Given the description of an element on the screen output the (x, y) to click on. 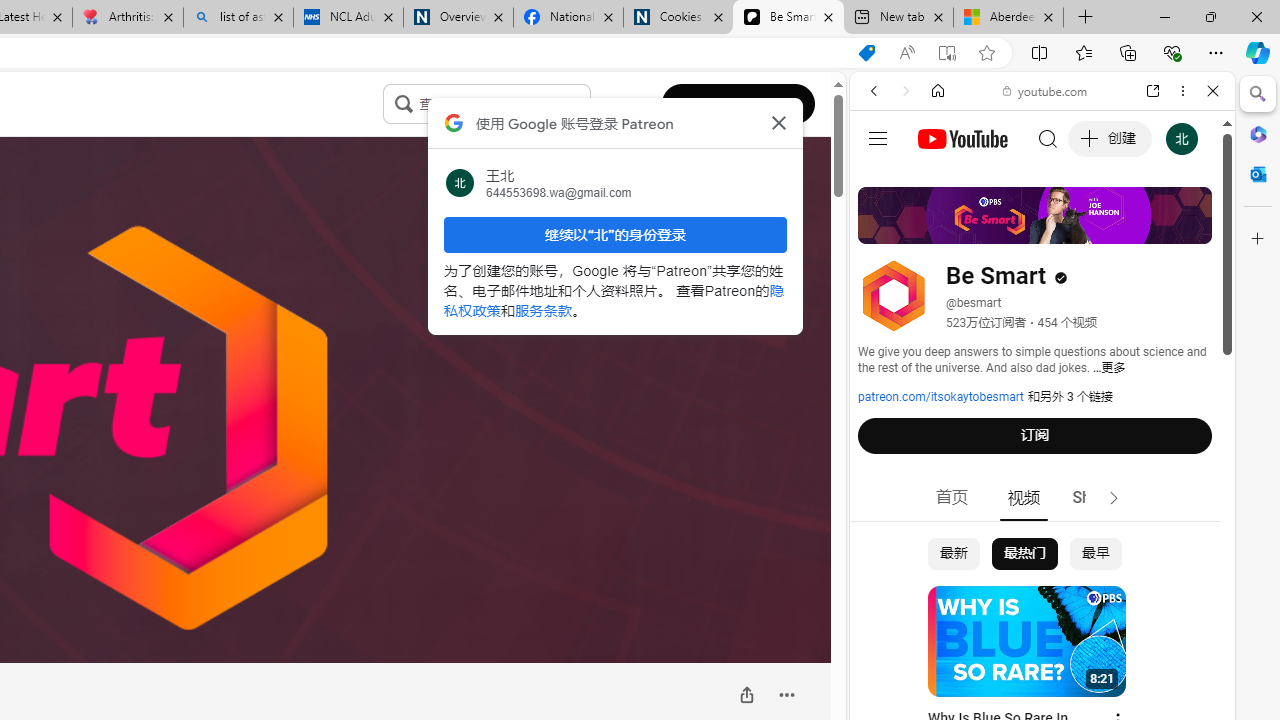
IMAGES (939, 228)
Show More Music (1164, 546)
Search Filter, Search Tools (1093, 228)
